Given the description of an element on the screen output the (x, y) to click on. 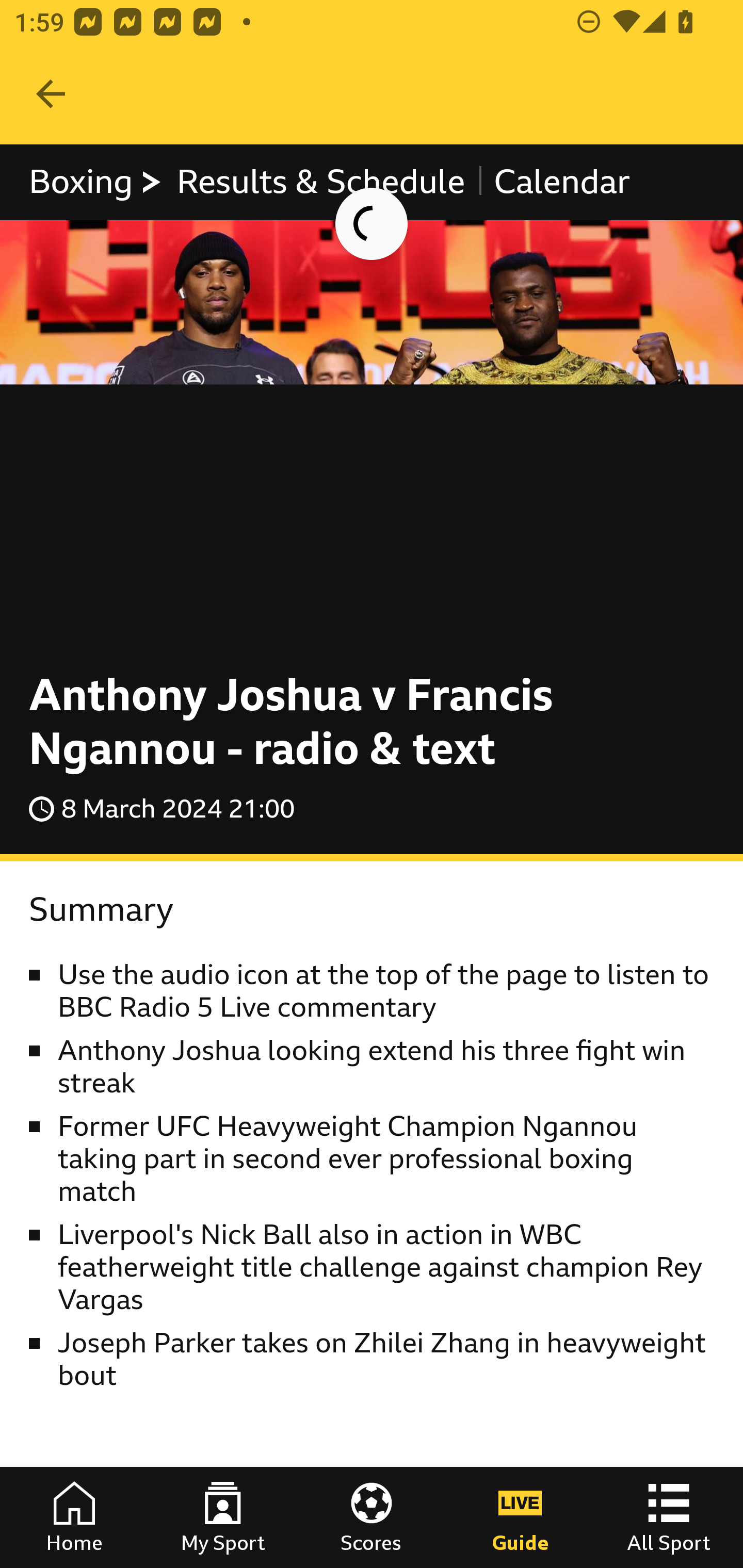
Navigate up (50, 93)
Boxing  (96, 181)
Results & Schedule (320, 181)
Calendar (561, 181)
Home (74, 1517)
My Sport (222, 1517)
Scores (371, 1517)
All Sport (668, 1517)
